Given the description of an element on the screen output the (x, y) to click on. 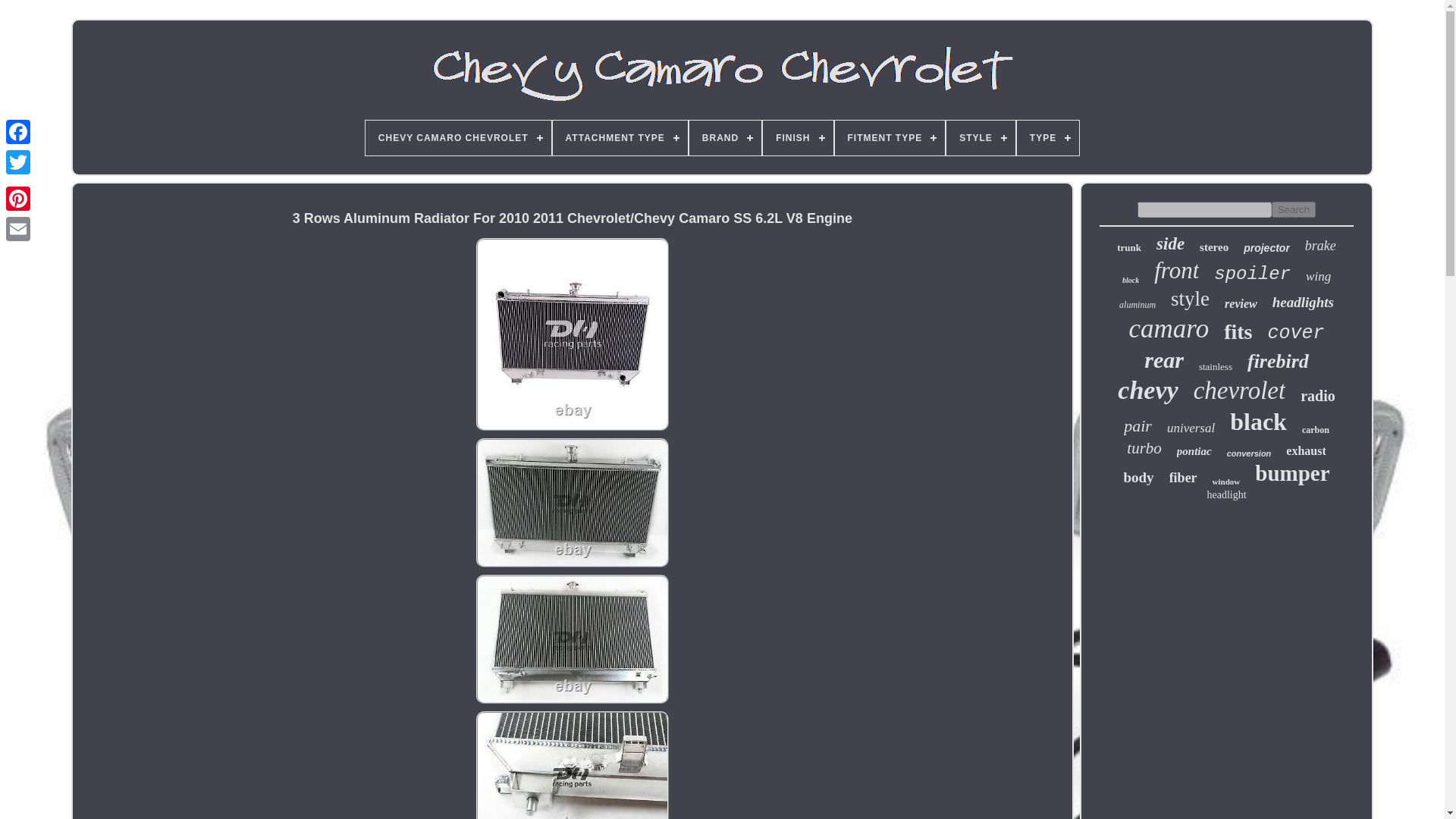
BRAND (724, 137)
Search (1293, 209)
CHEVY CAMARO CHEVROLET (458, 137)
Email (17, 228)
ATTACHMENT TYPE (620, 137)
